Given the description of an element on the screen output the (x, y) to click on. 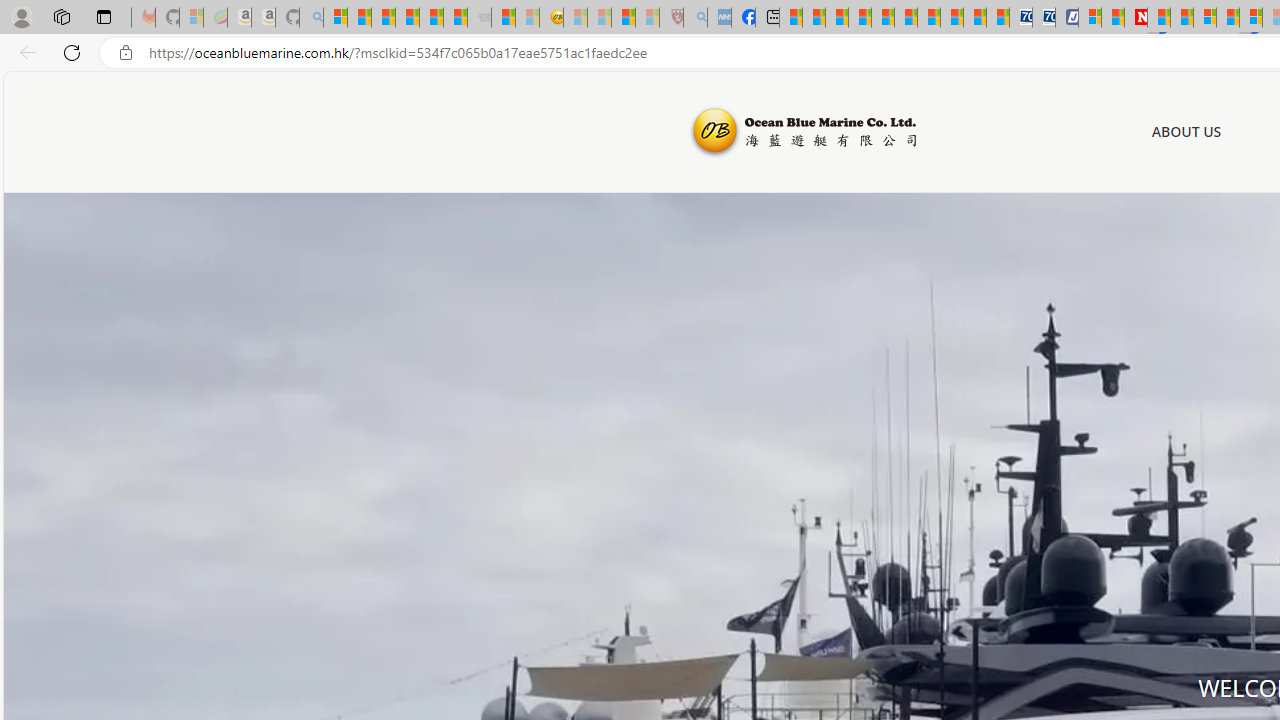
12 Popular Science Lies that Must be Corrected - Sleeping (647, 17)
